Given the description of an element on the screen output the (x, y) to click on. 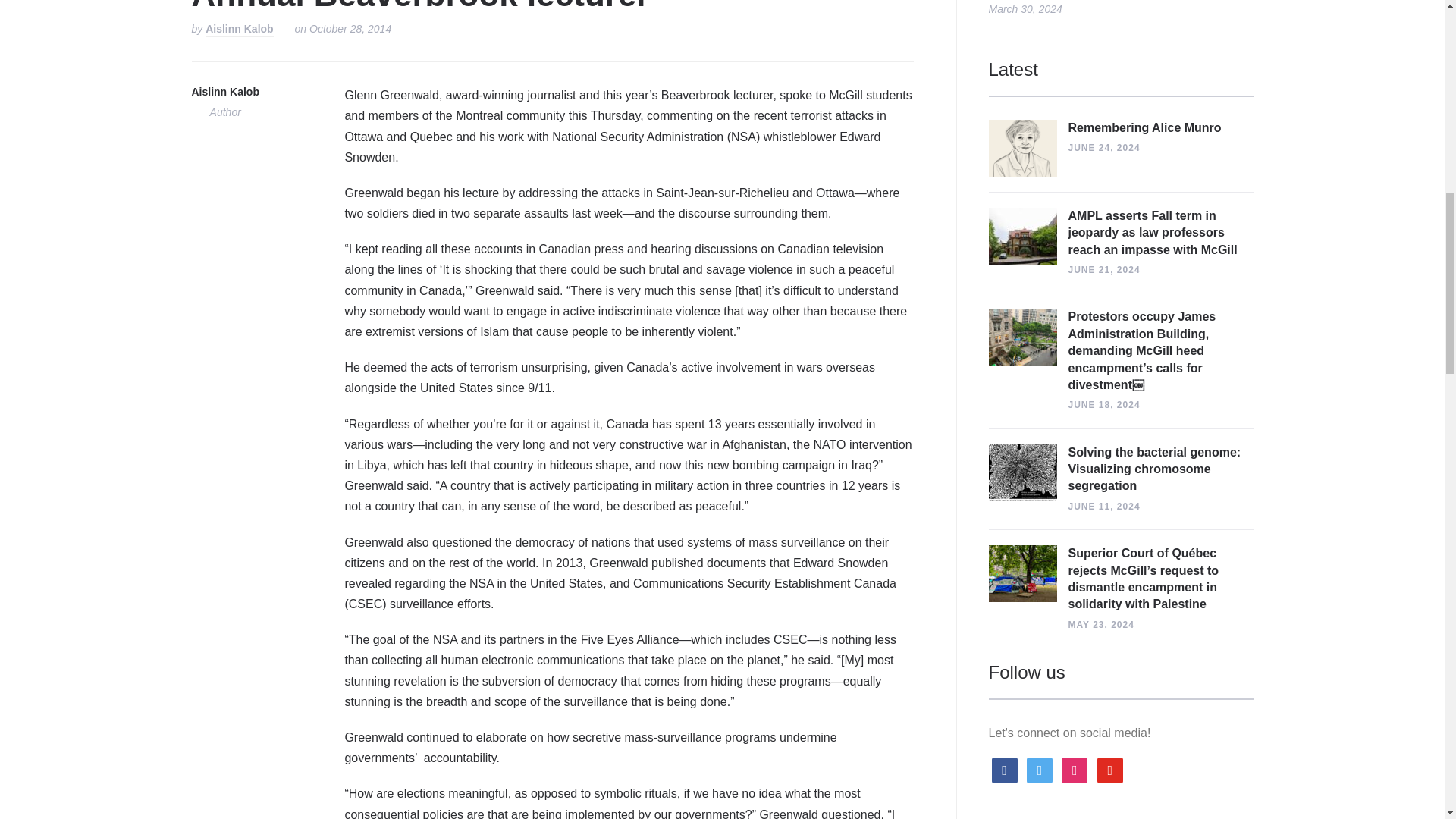
Aislinn Kalob's posts (239, 29)
Aislinn Kalob's posts (224, 93)
